Given the description of an element on the screen output the (x, y) to click on. 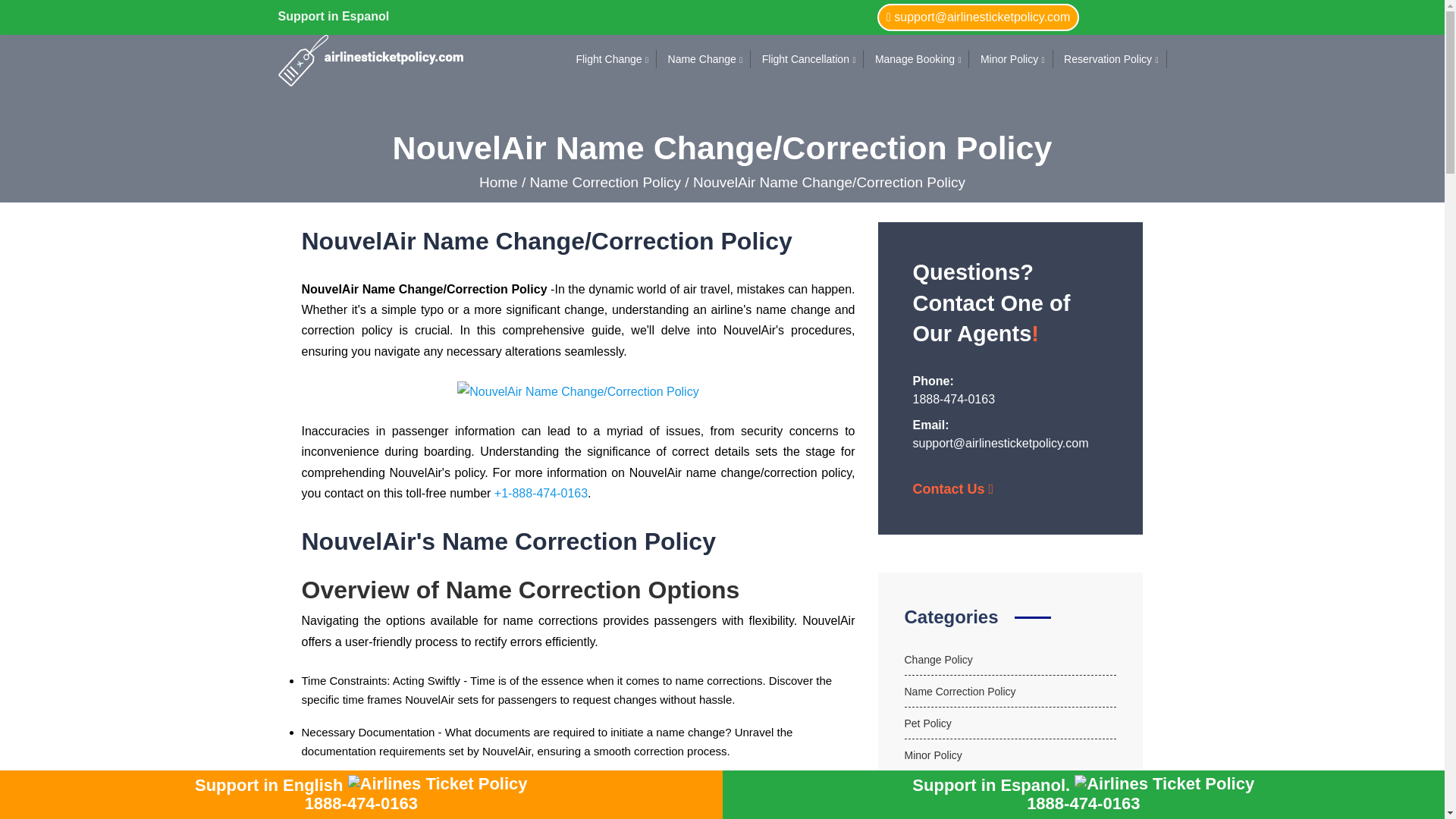
Flight Change (608, 59)
Name Change (702, 59)
